Given the description of an element on the screen output the (x, y) to click on. 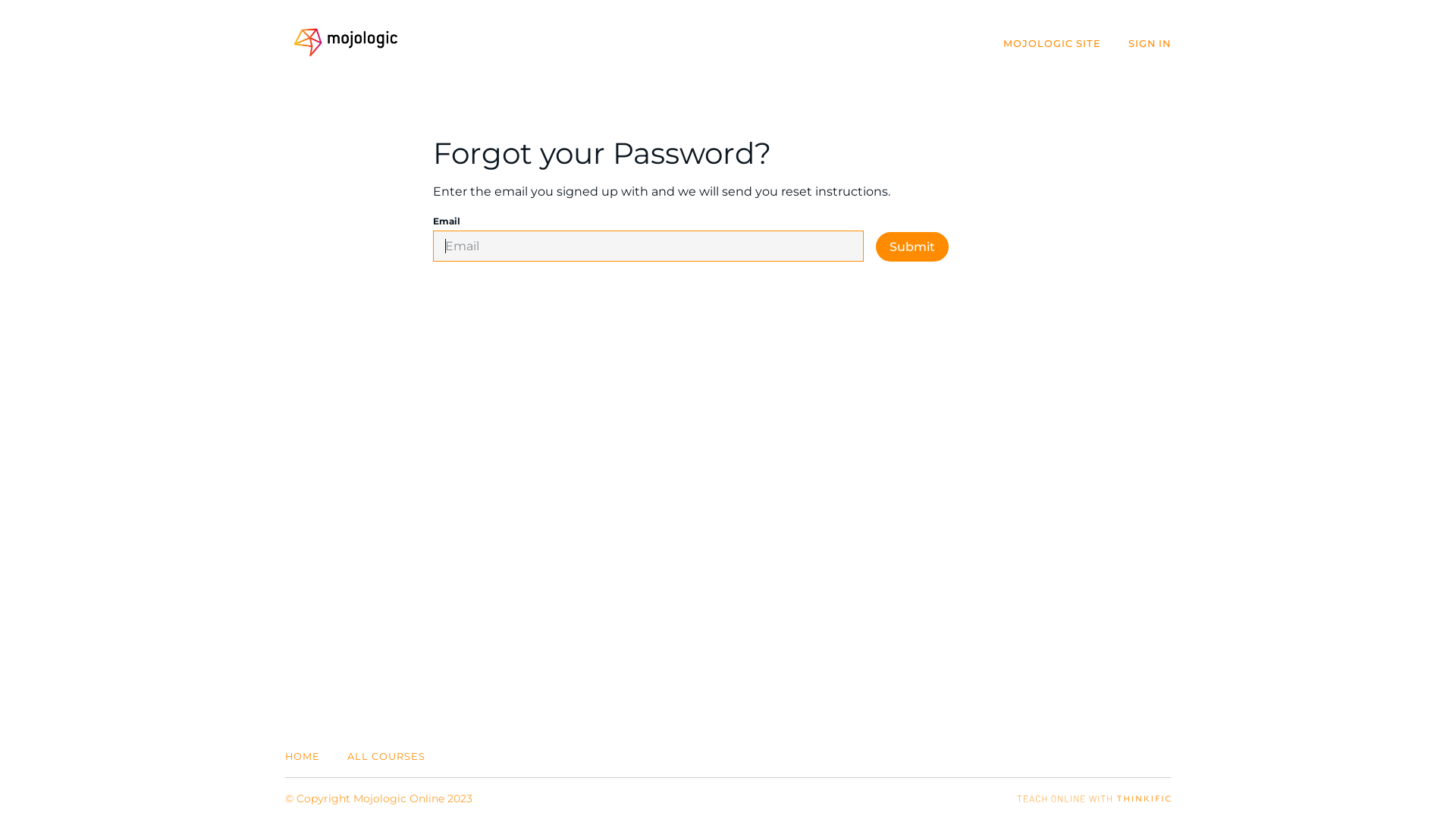
MOJOLOGIC SITE Element type: text (1052, 43)
ALL COURSES Element type: text (386, 756)
HOME Element type: text (302, 756)
SIGN IN Element type: text (1149, 43)
Teach online with Thinkific
Open in a new window Element type: text (1093, 798)
Submit Element type: text (911, 246)
